Given the description of an element on the screen output the (x, y) to click on. 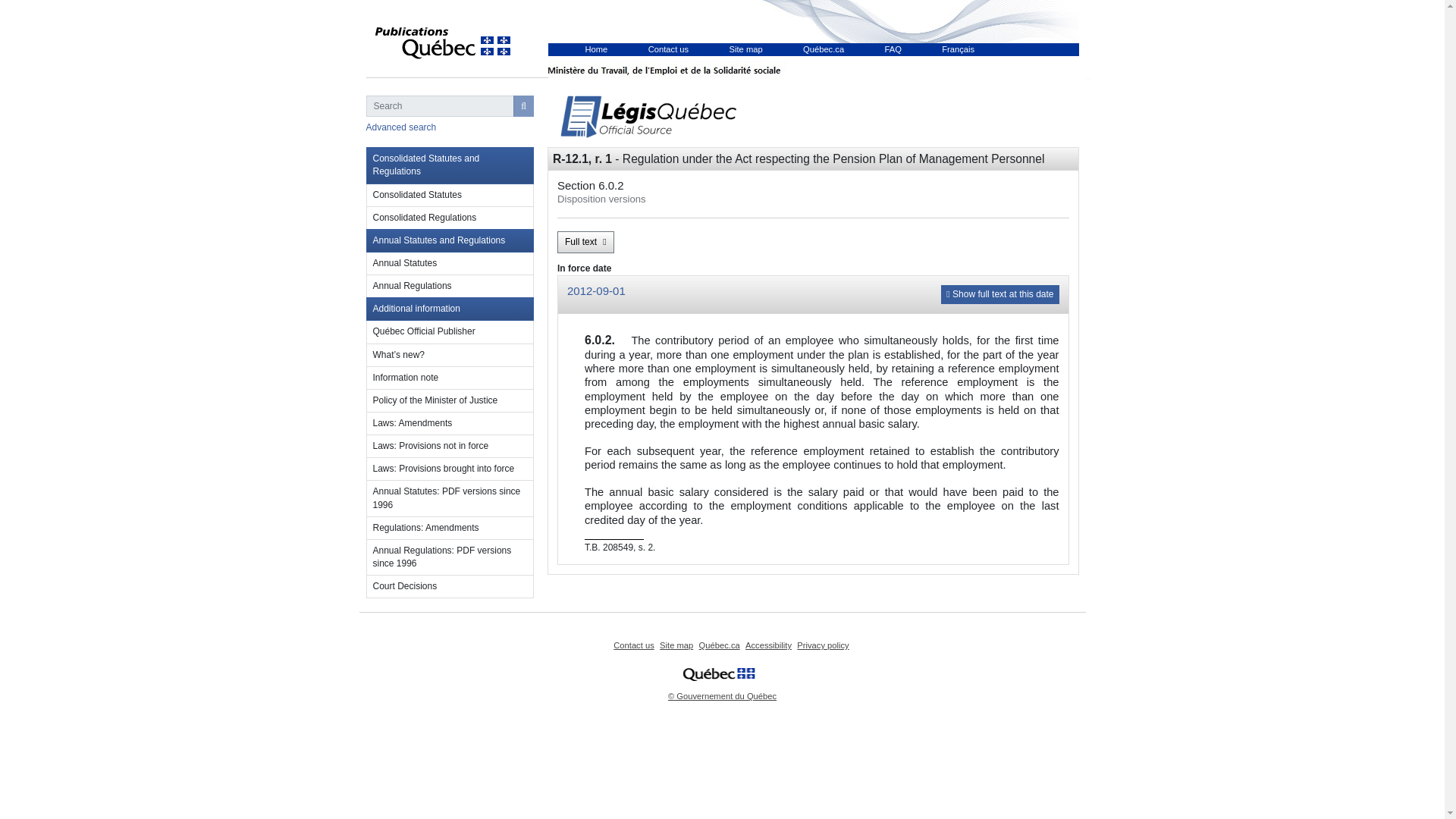
Laws: Provisions not in force (449, 445)
Full text (585, 241)
Laws: Provisions brought into force (449, 468)
Annual Statutes (449, 263)
Home (596, 49)
Privacy policy (822, 645)
Site map (676, 645)
Show full text at this date (999, 294)
Policy of the Minister of Justice (449, 400)
2012-09-01 (596, 290)
